Given the description of an element on the screen output the (x, y) to click on. 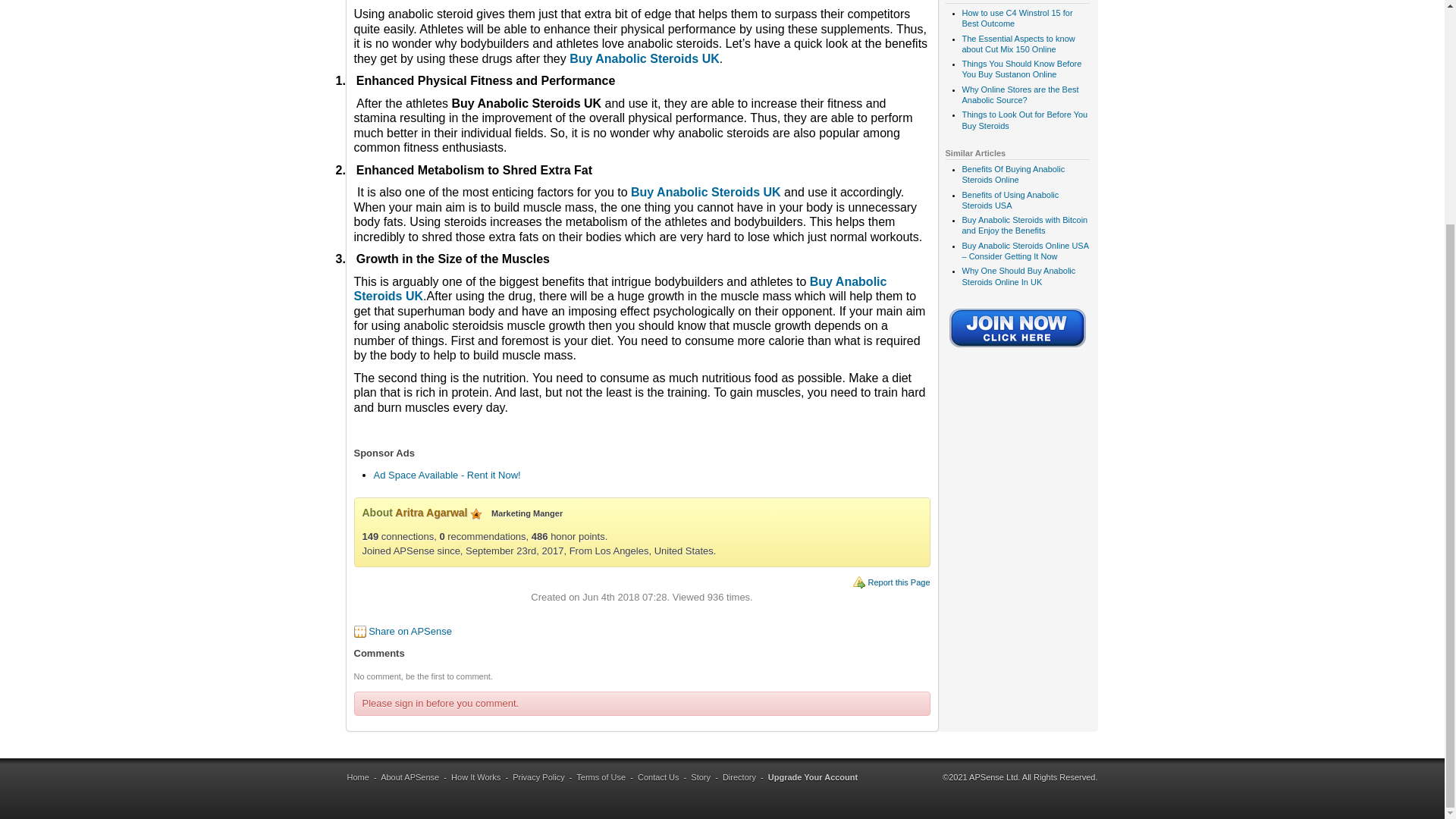
Benefits of Using Anabolic Steroids USA (1009, 199)
Share on APSense (409, 631)
Why One Should Buy Anabolic Steroids Online In UK (1017, 275)
Benefits Of Buying Anabolic Steroids Online (1012, 174)
Share on APSense (409, 631)
Why Online Stores are the Best Anabolic Source? (1019, 94)
Buy Anabolic Steroids UK (644, 58)
Buy Anabolic Steroids UK (705, 192)
Join APSense Social Network (1017, 347)
Aritra Agarwal (430, 512)
Ad Space Available - Rent it Now! (445, 474)
Report this Page (898, 582)
How to use C4 Winstrol 15 for Best Outcome (1015, 17)
Things to Look Out for Before You Buy Steroids (1023, 119)
Advanced (475, 513)
